Given the description of an element on the screen output the (x, y) to click on. 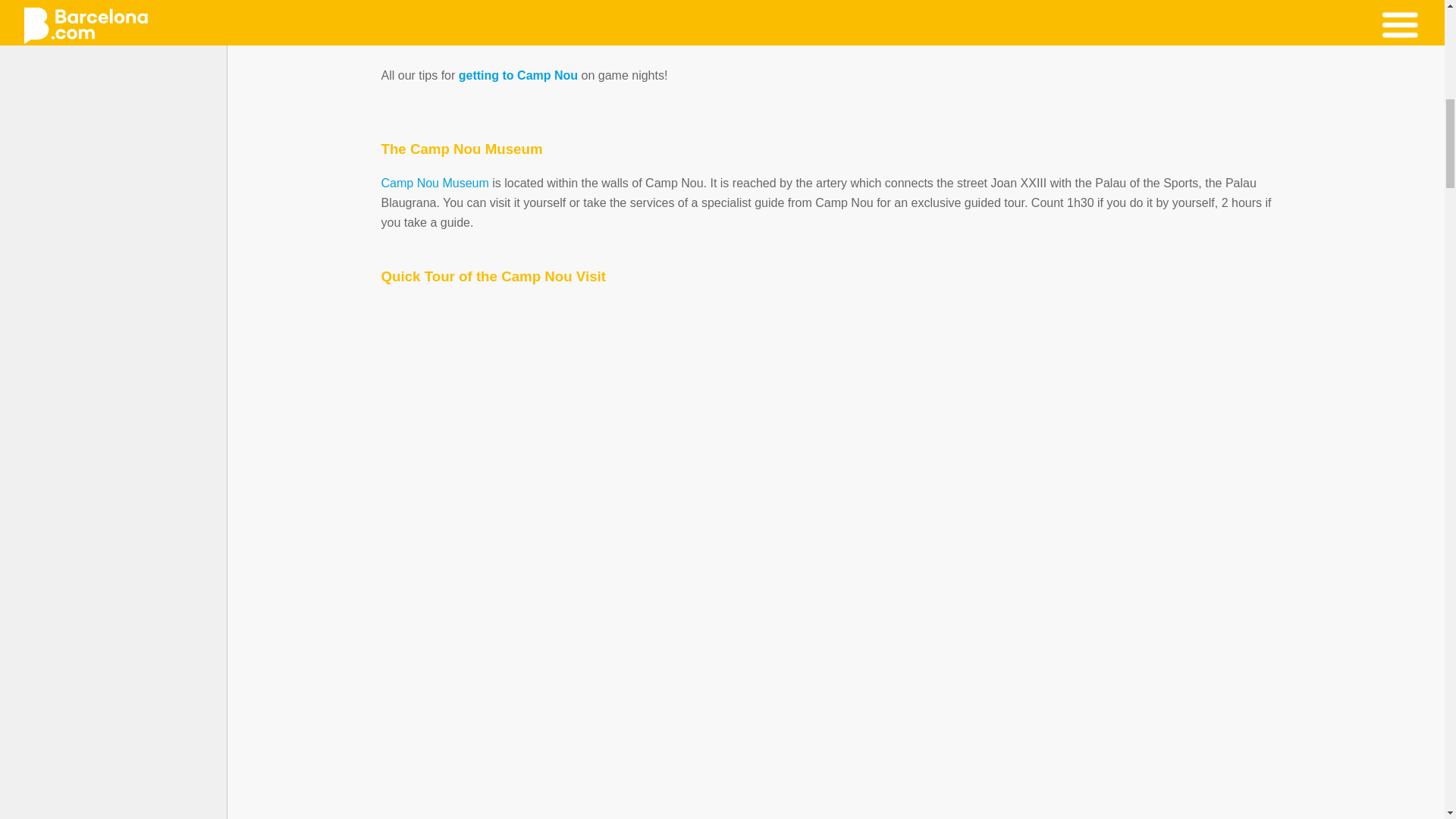
getting to Camp Nou (518, 74)
Camp Nou Museum (433, 182)
Camp Nou Museum (433, 182)
How to get to camp nou? (518, 74)
